Given the description of an element on the screen output the (x, y) to click on. 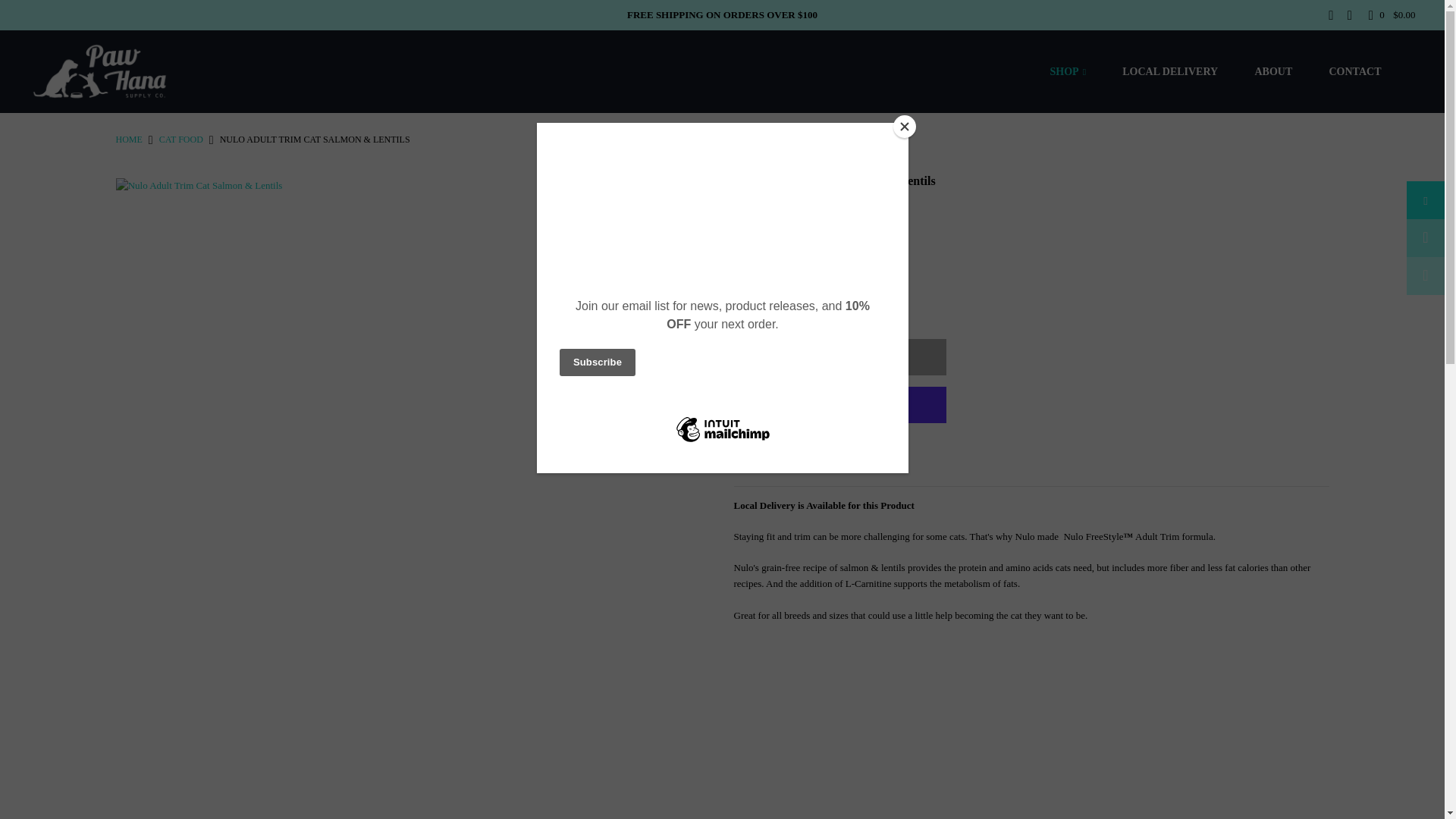
Add to Cart (839, 357)
Home (128, 139)
HOME (128, 139)
Add to Cart (839, 357)
CONTACT (1359, 71)
1 (788, 309)
CAT FOOD (180, 139)
ABOUT (1278, 71)
Cat Food (180, 139)
LOCAL DELIVERY (1175, 71)
More payment options (1031, 452)
SHOP (1073, 71)
